Given the description of an element on the screen output the (x, y) to click on. 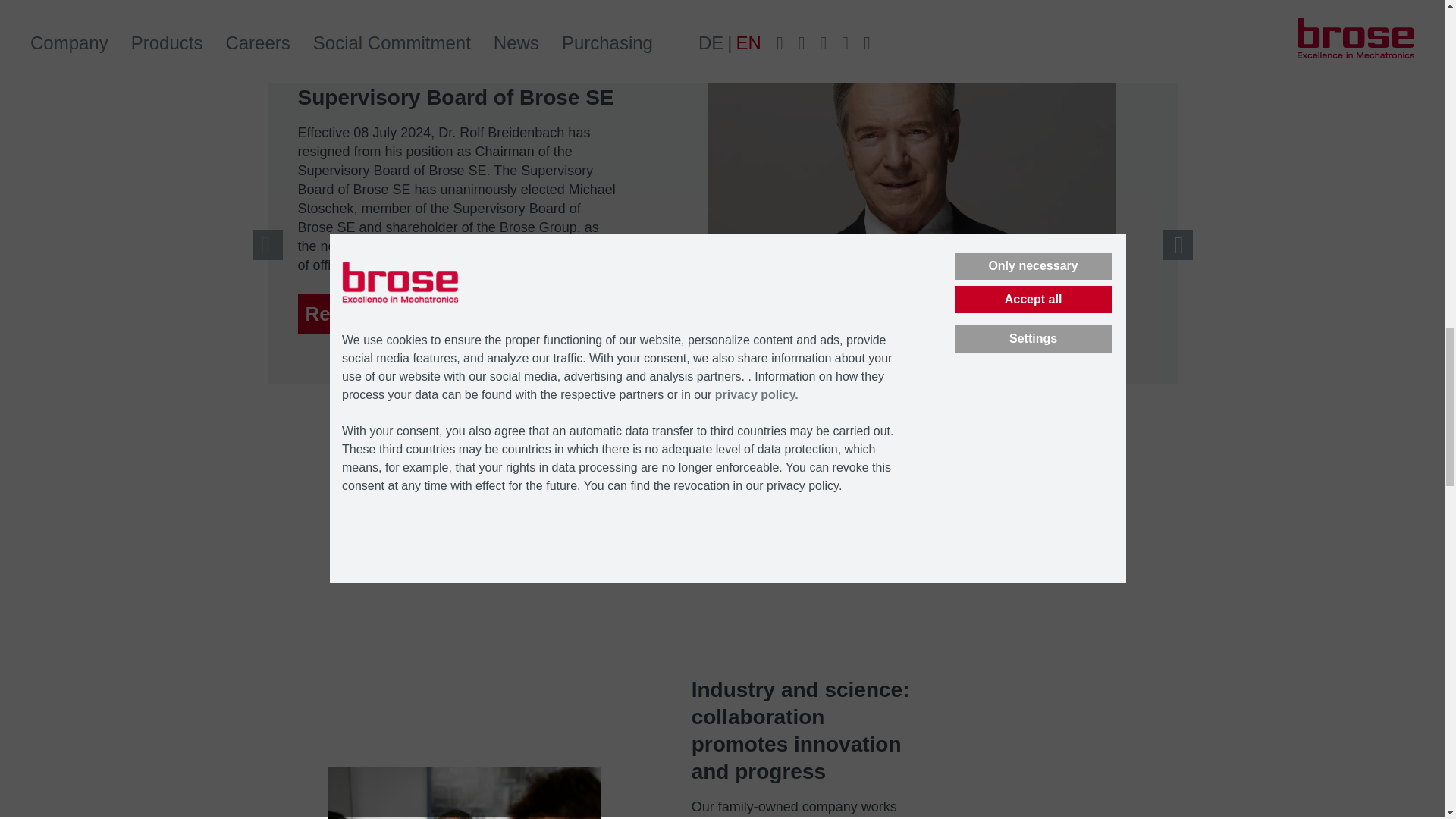
Back (266, 245)
Forward (1176, 245)
